Given the description of an element on the screen output the (x, y) to click on. 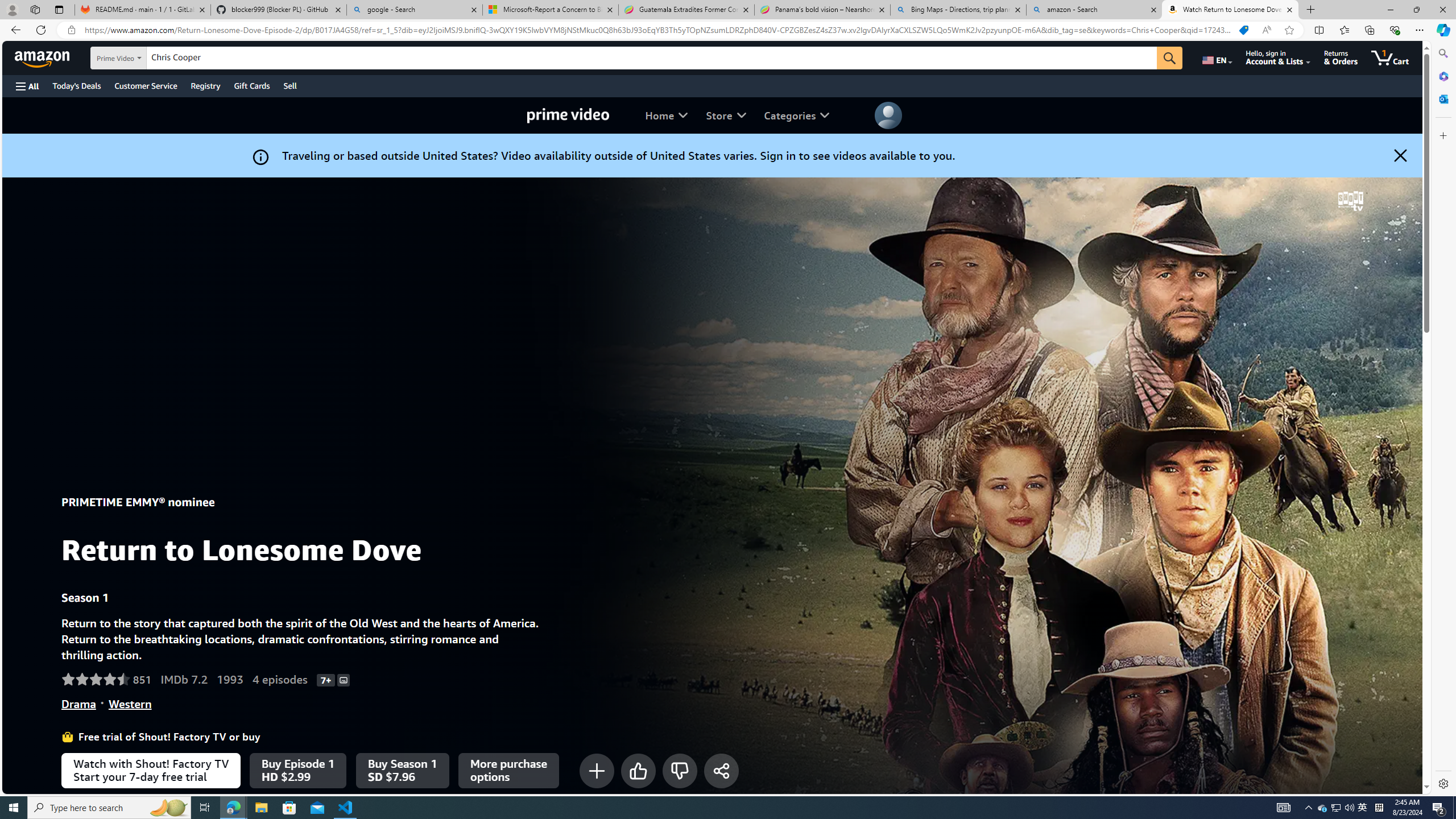
Gift Cards (251, 85)
Choose a language for shopping. (1216, 57)
Registry (205, 85)
Open Menu (26, 86)
Categories (796, 115)
Prime Video (567, 115)
Channel logo (1350, 200)
1 item in cart (1389, 57)
Class: bBPMYR CesUY3 GoanCL f11d1lkh (888, 115)
